Given the description of an element on the screen output the (x, y) to click on. 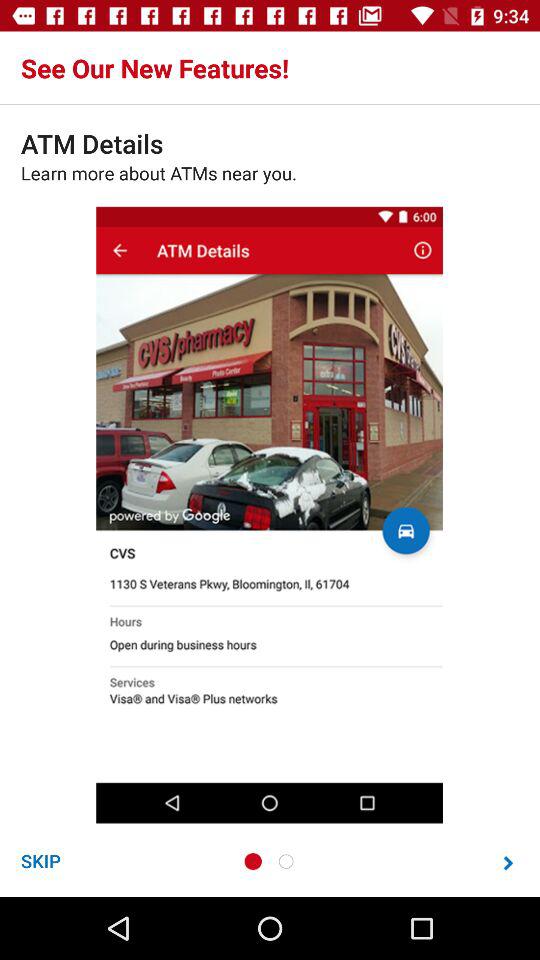
select the skip at the bottom left corner (40, 860)
